Given the description of an element on the screen output the (x, y) to click on. 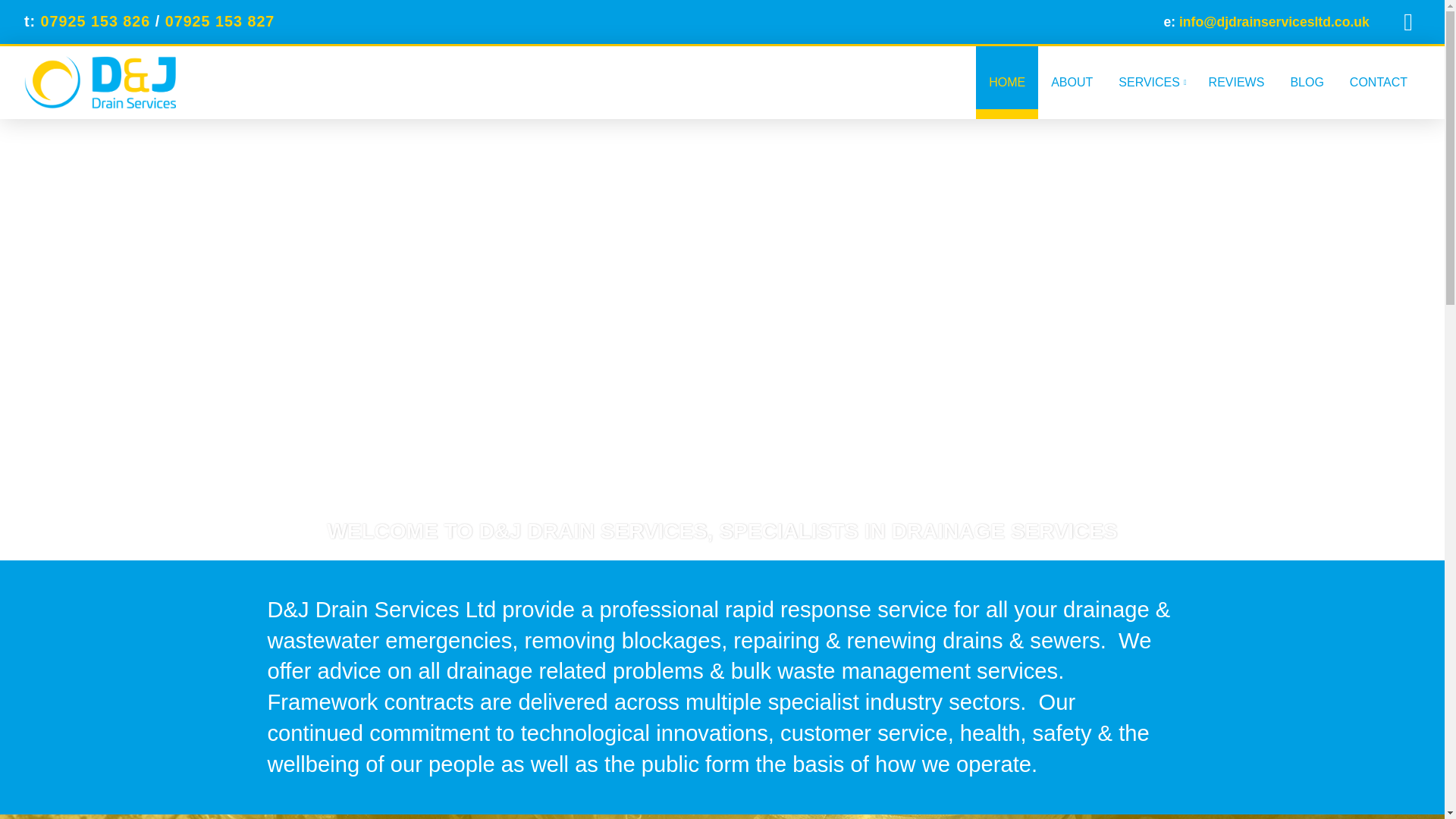
REVIEWS (1236, 81)
CONTACT (1378, 81)
07925 153 826 (91, 21)
ABOUT (1071, 81)
SERVICES (1150, 81)
07925 153 827 (220, 21)
